Given the description of an element on the screen output the (x, y) to click on. 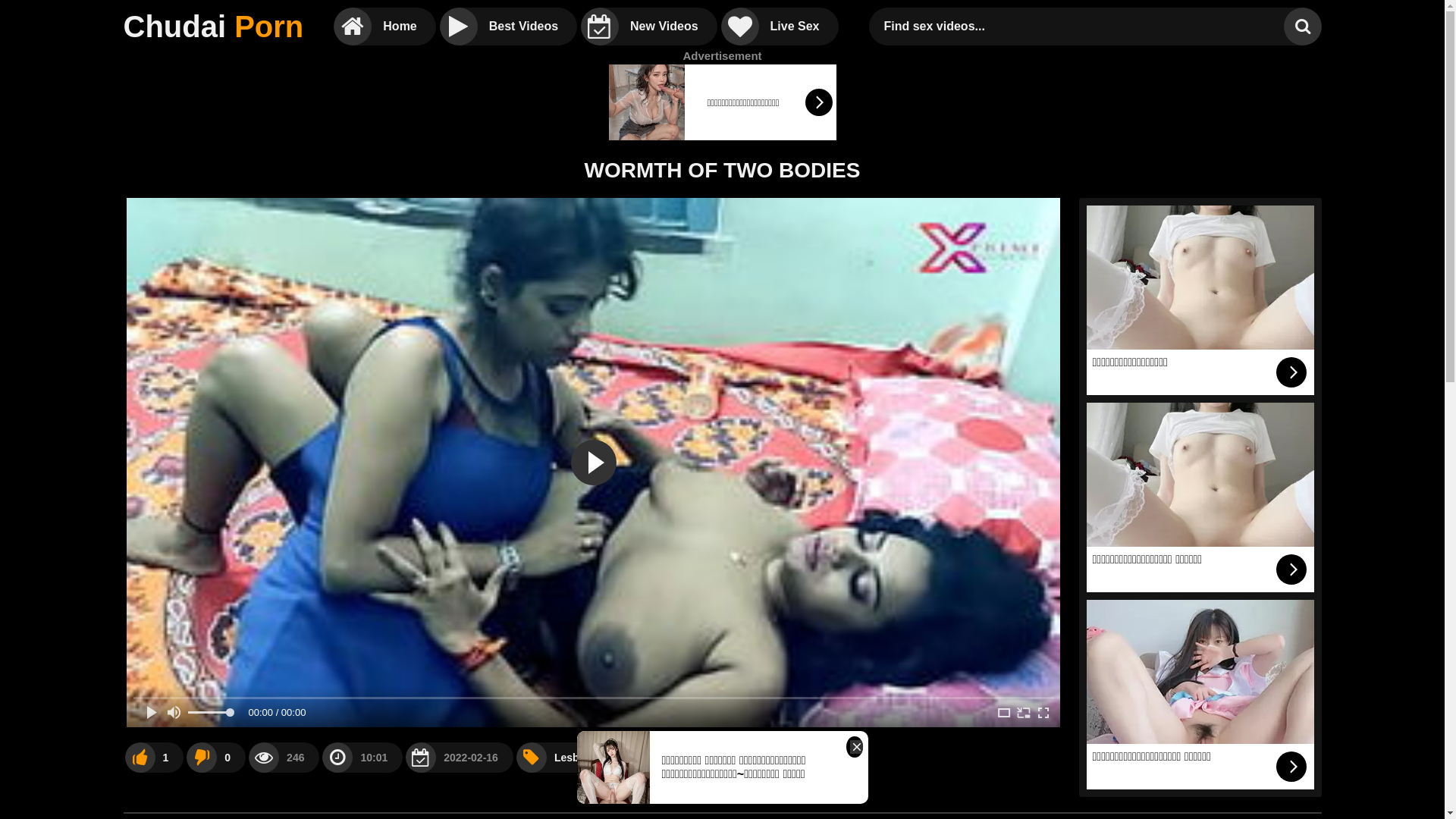
Chudai Porn Element type: text (212, 26)
Search Element type: hover (1302, 26)
Best Videos Element type: text (508, 26)
Webseries Element type: text (665, 756)
Lesbian Element type: text (562, 756)
Use Latin letters, digits, space, - Element type: hover (1080, 26)
New Videos Element type: text (648, 26)
Home Element type: text (384, 26)
0 Element type: text (215, 756)
1 Element type: text (153, 756)
Live Sex Element type: text (779, 26)
